Given the description of an element on the screen output the (x, y) to click on. 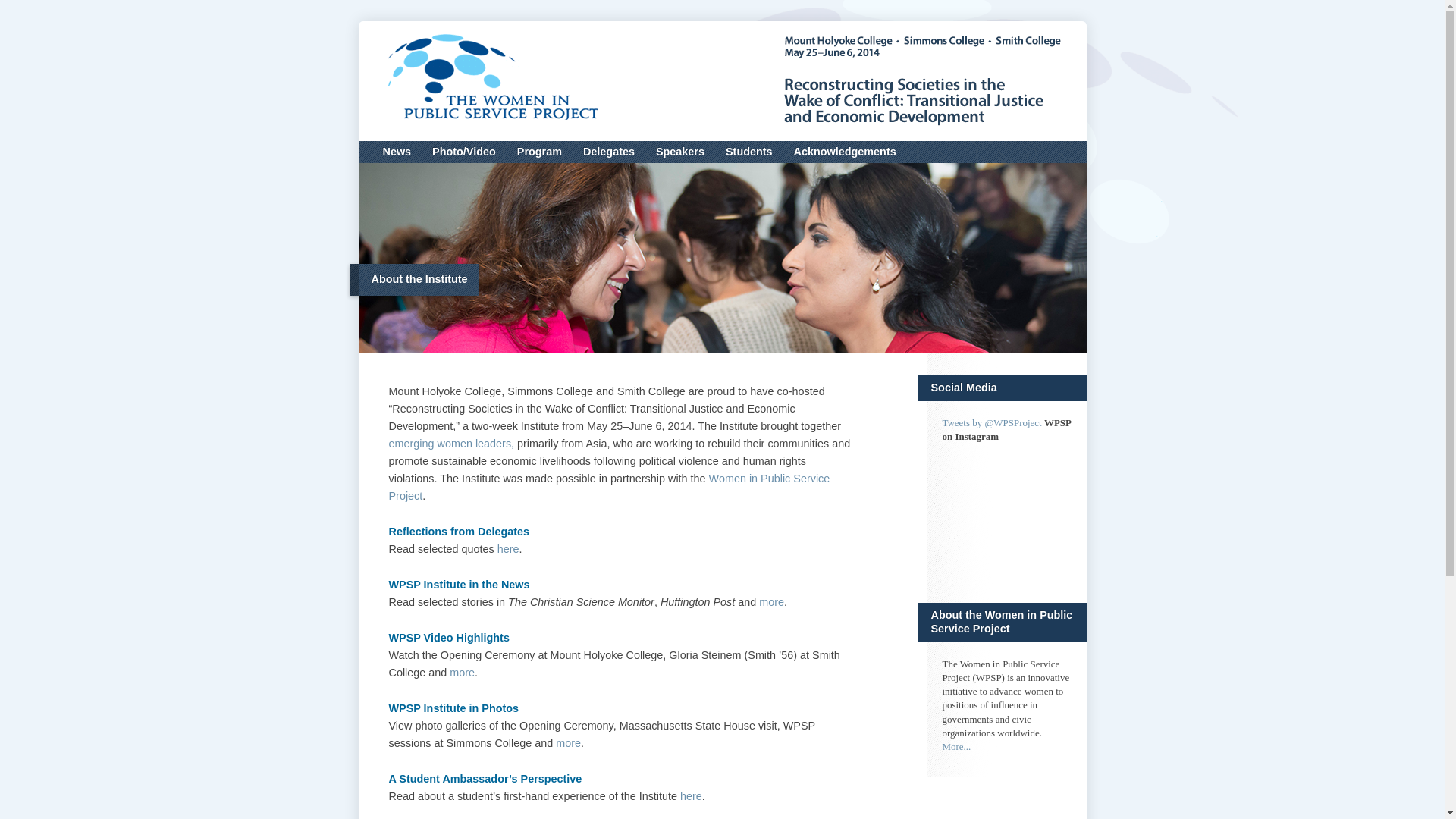
more (771, 602)
emerging women leaders, (450, 443)
Delegates (608, 151)
Instagram (1006, 509)
Program (539, 151)
more (568, 743)
here (508, 548)
more (461, 672)
Speakers (680, 151)
Students (749, 151)
